Given the description of an element on the screen output the (x, y) to click on. 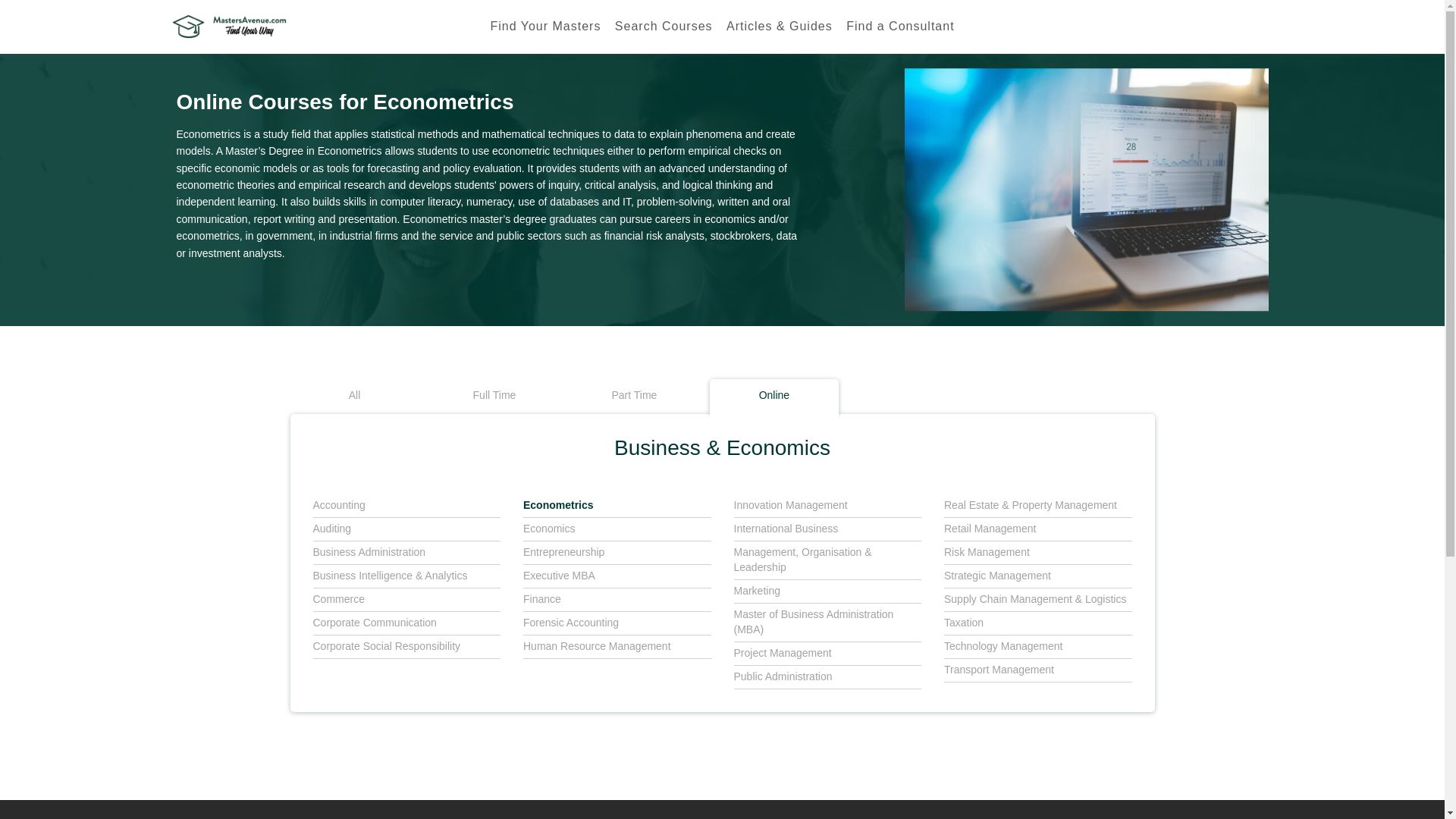
Search Courses (663, 27)
All (354, 396)
Full Time (494, 396)
Find a Consultant (900, 27)
Find Your Masters (544, 27)
Part Time (633, 396)
Online (774, 396)
